Given the description of an element on the screen output the (x, y) to click on. 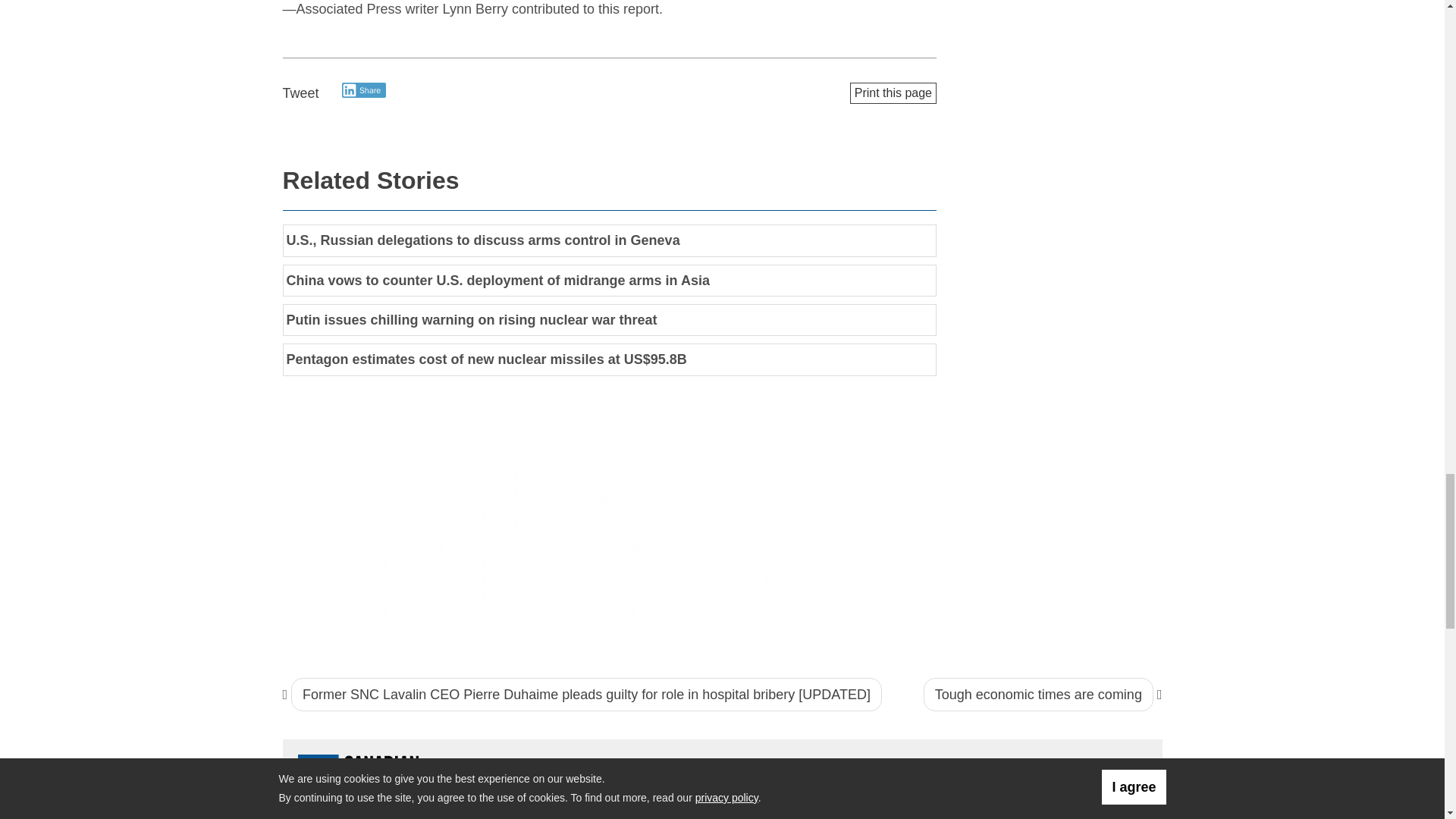
3rd party ad content (609, 558)
Canadian Manufacturing (395, 780)
